Given the description of an element on the screen output the (x, y) to click on. 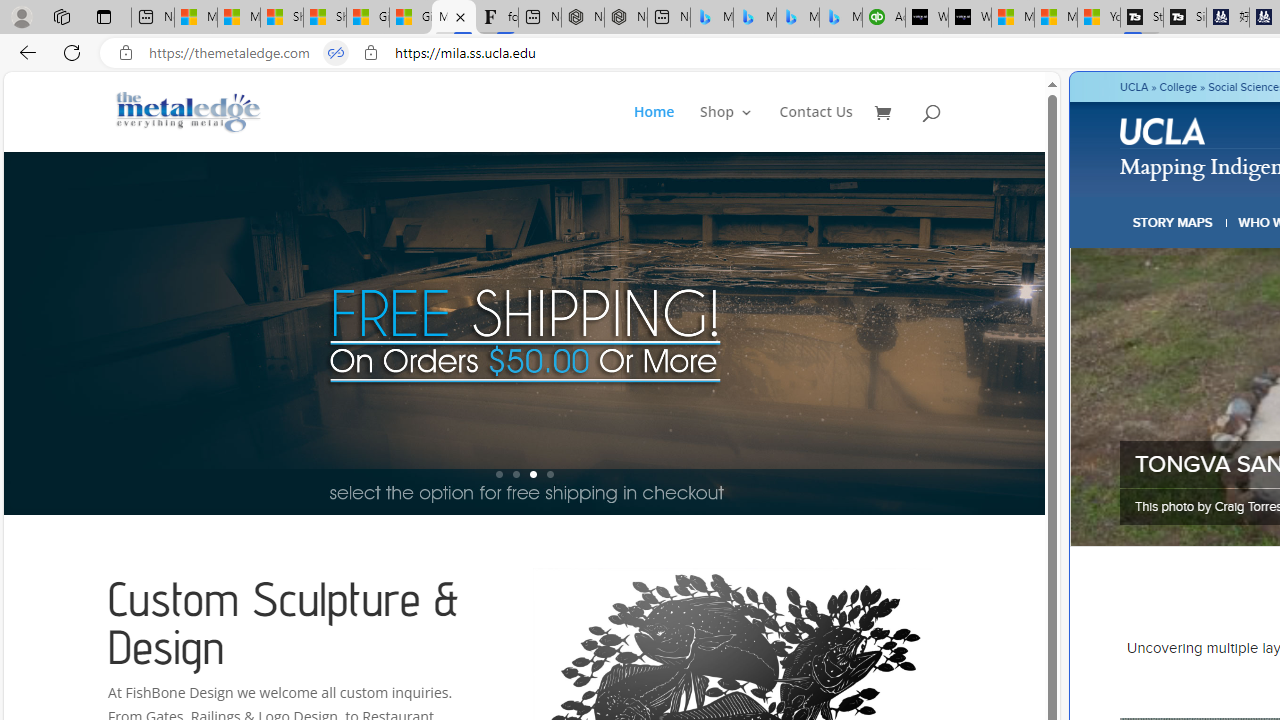
UCLA logo (1164, 134)
